Given the description of an element on the screen output the (x, y) to click on. 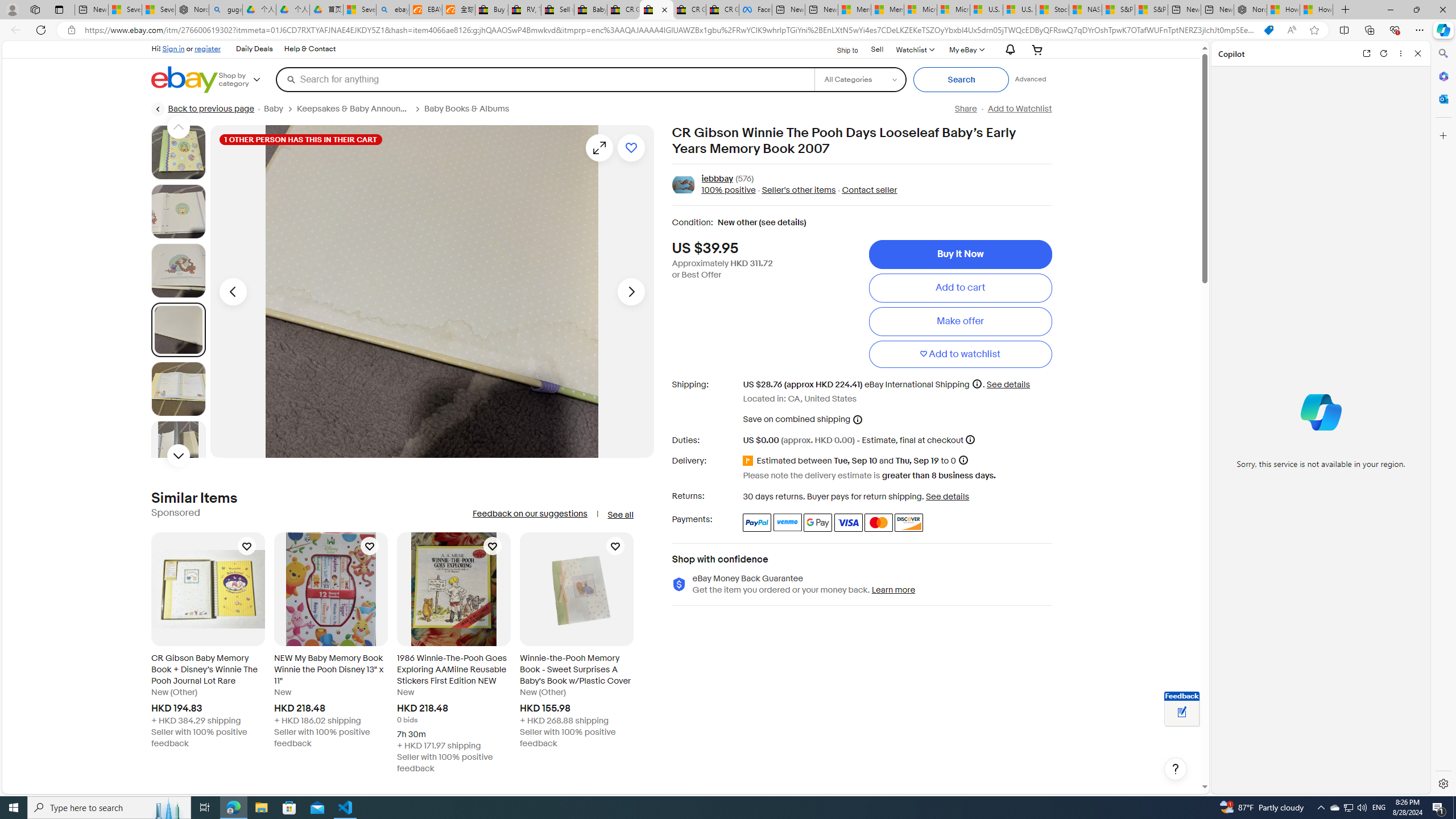
Picture 2 of 22 (178, 211)
Master Card (877, 521)
Picture 3 of 22 (178, 270)
Picture 1 of 22 (178, 152)
Sell (877, 49)
My eBayExpand My eBay (966, 49)
Facebook (755, 9)
See all (620, 514)
